Given the description of an element on the screen output the (x, y) to click on. 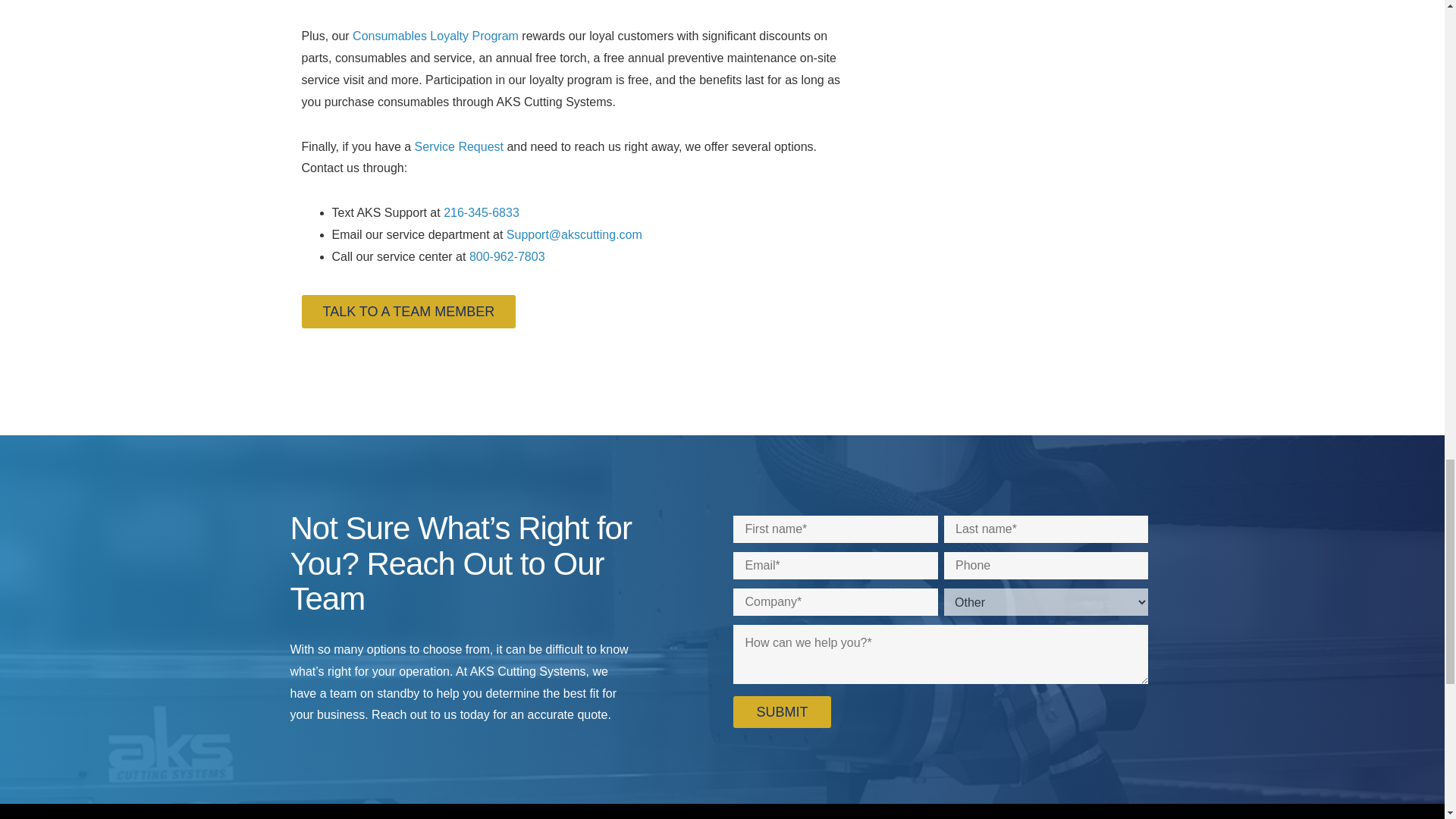
Submit (781, 712)
